Given the description of an element on the screen output the (x, y) to click on. 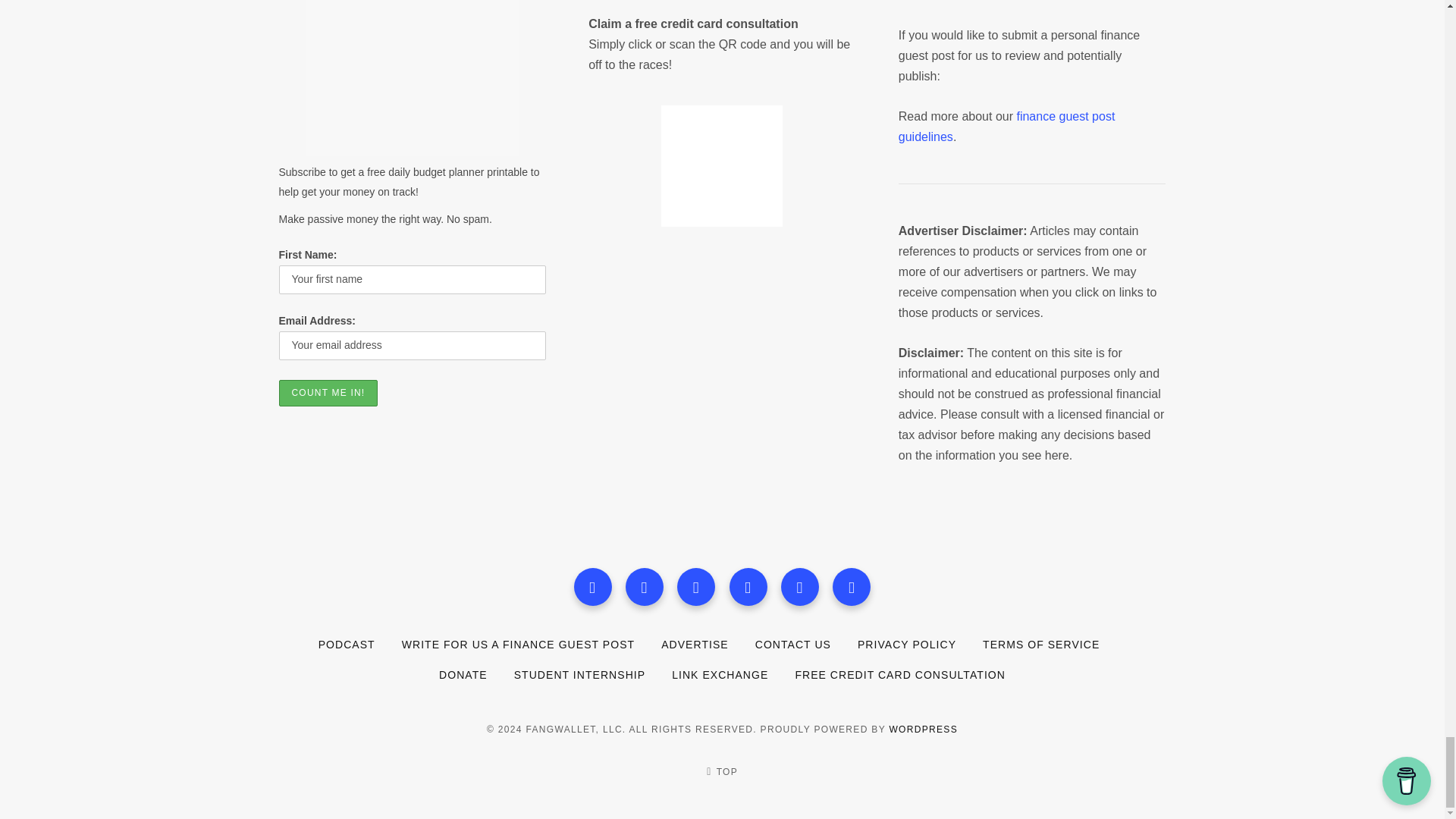
Count me in! (328, 393)
